Given the description of an element on the screen output the (x, y) to click on. 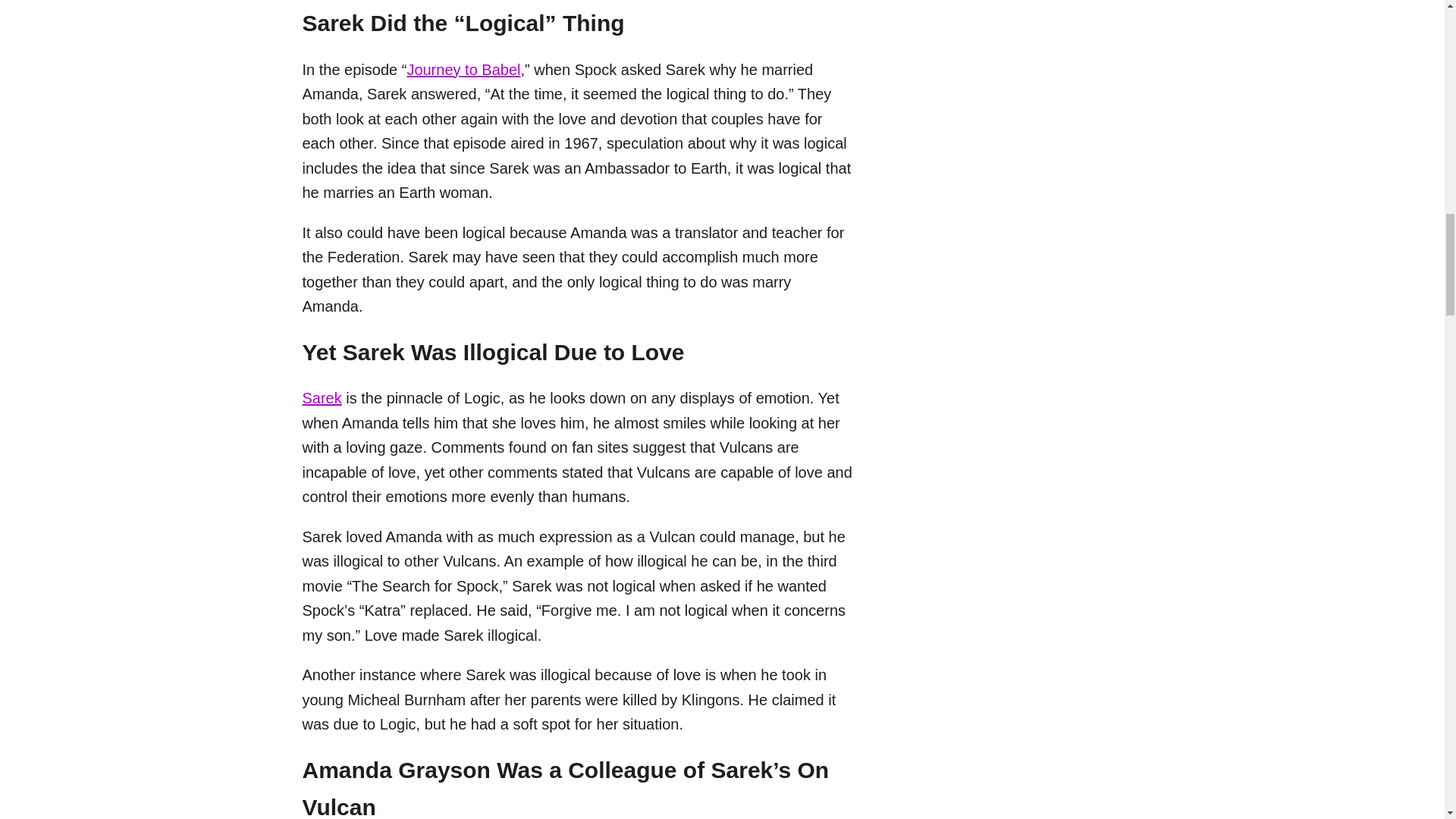
Sarek (320, 397)
Journey to Babel (462, 69)
